Given the description of an element on the screen output the (x, y) to click on. 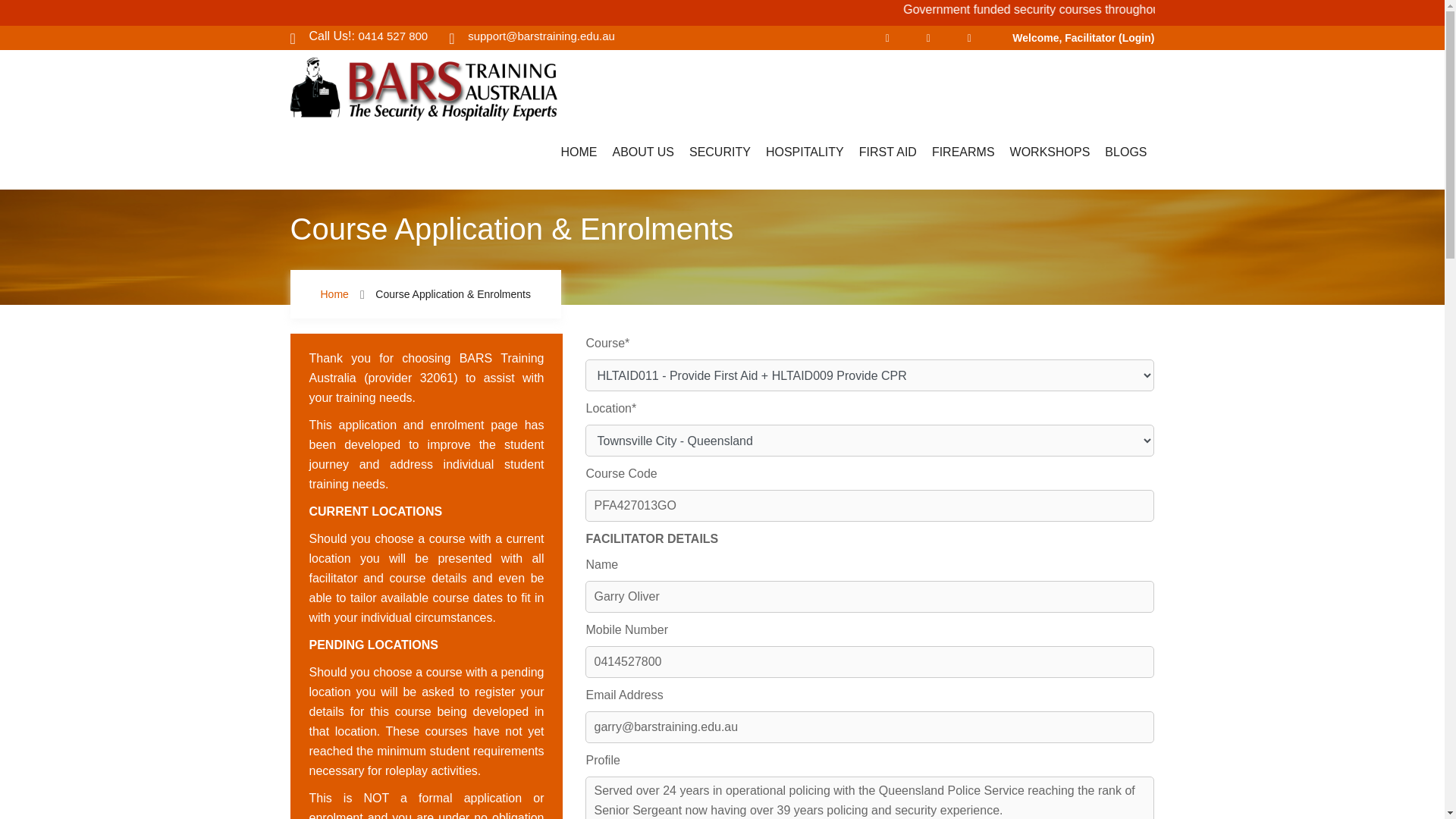
0414 527 800 (393, 35)
SECURITY (719, 154)
Garry Oliver (869, 596)
WORKSHOPS (1050, 154)
HOSPITALITY (804, 154)
PFA427013GO (869, 505)
0414527800 (869, 662)
ABOUT US (642, 154)
FIREARMS (962, 154)
Home (333, 294)
